Given the description of an element on the screen output the (x, y) to click on. 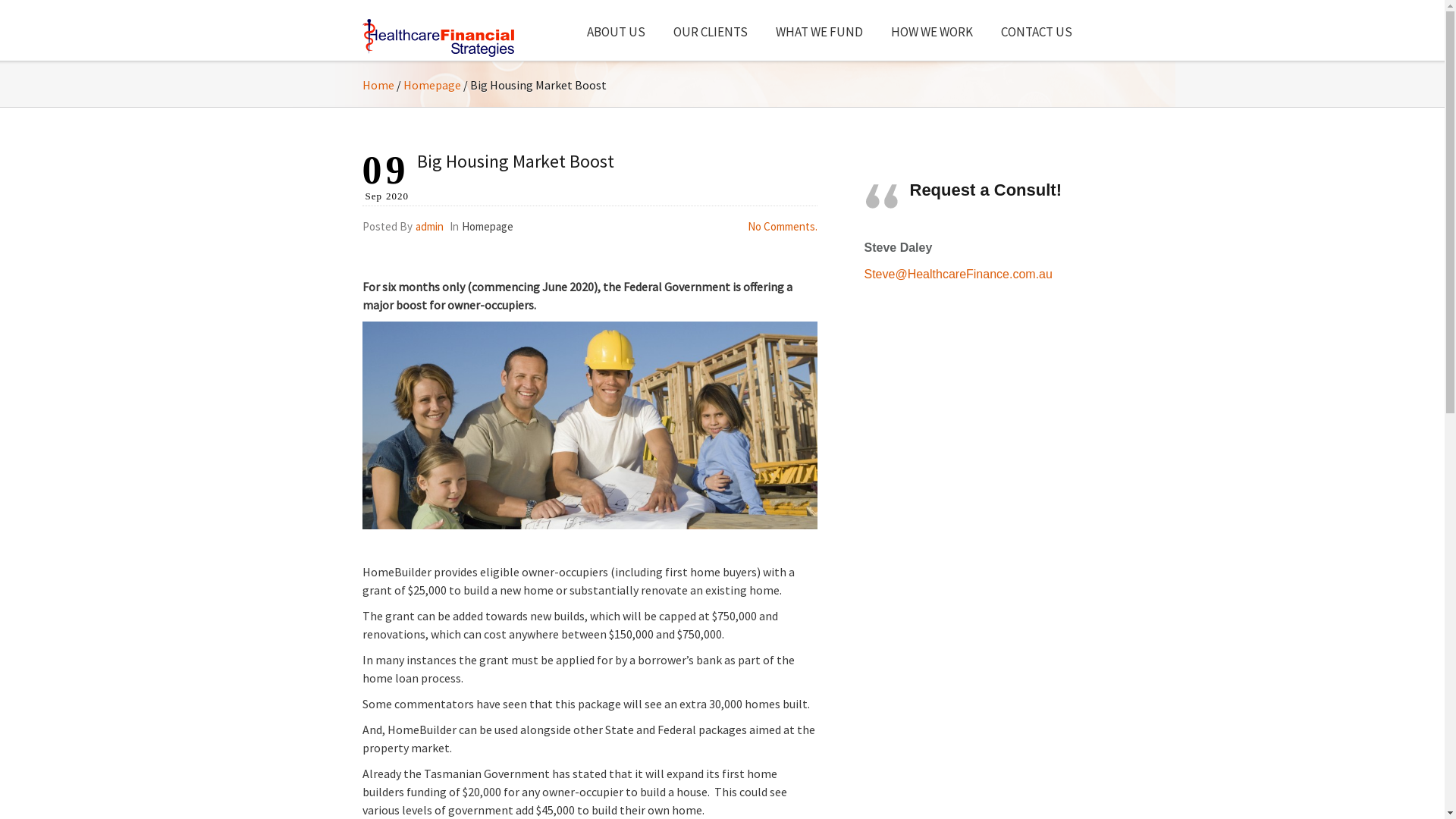
OUR CLIENTS Element type: text (709, 29)
admin Element type: text (429, 226)
Homepage Element type: text (432, 84)
CONTACT US Element type: text (1035, 29)
Steve@HealthcareFinance.com.au Element type: text (958, 273)
HOW WE WORK Element type: text (930, 29)
Home Element type: text (378, 84)
No Comments. Element type: text (782, 226)
ABOUT US Element type: text (614, 29)
WHAT WE FUND Element type: text (817, 29)
Homepage Element type: text (486, 226)
